Given the description of an element on the screen output the (x, y) to click on. 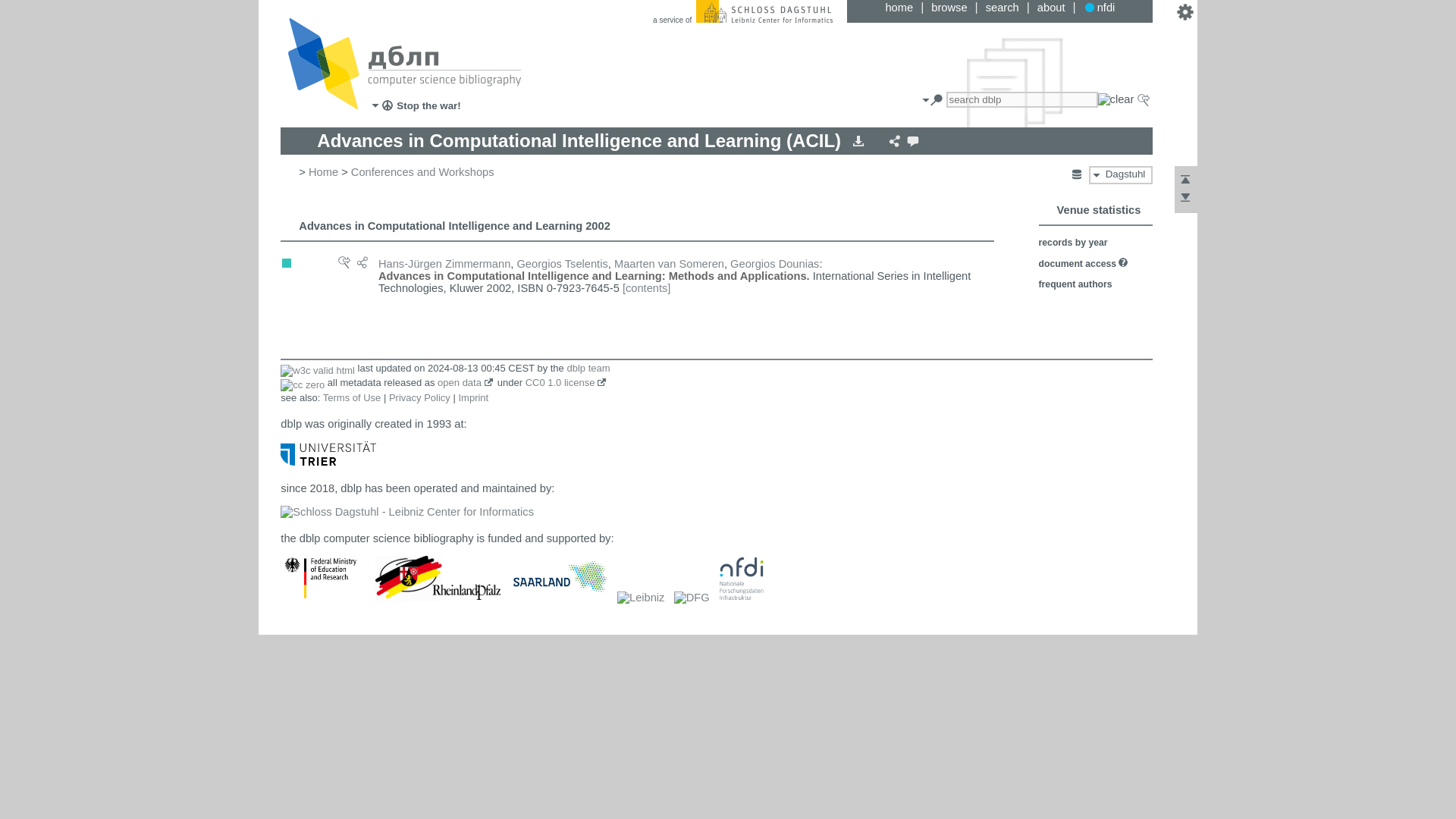
jump to bottom (1184, 200)
clear (1115, 99)
jump to top (1184, 183)
use mirror server (1076, 174)
Schloss Dagstuhl - Leibniz Center for Informatics (763, 11)
Georgios Dounias (774, 263)
Maarten van Someren (668, 263)
Georgios Tselentis (561, 263)
Editorship (286, 262)
